Given the description of an element on the screen output the (x, y) to click on. 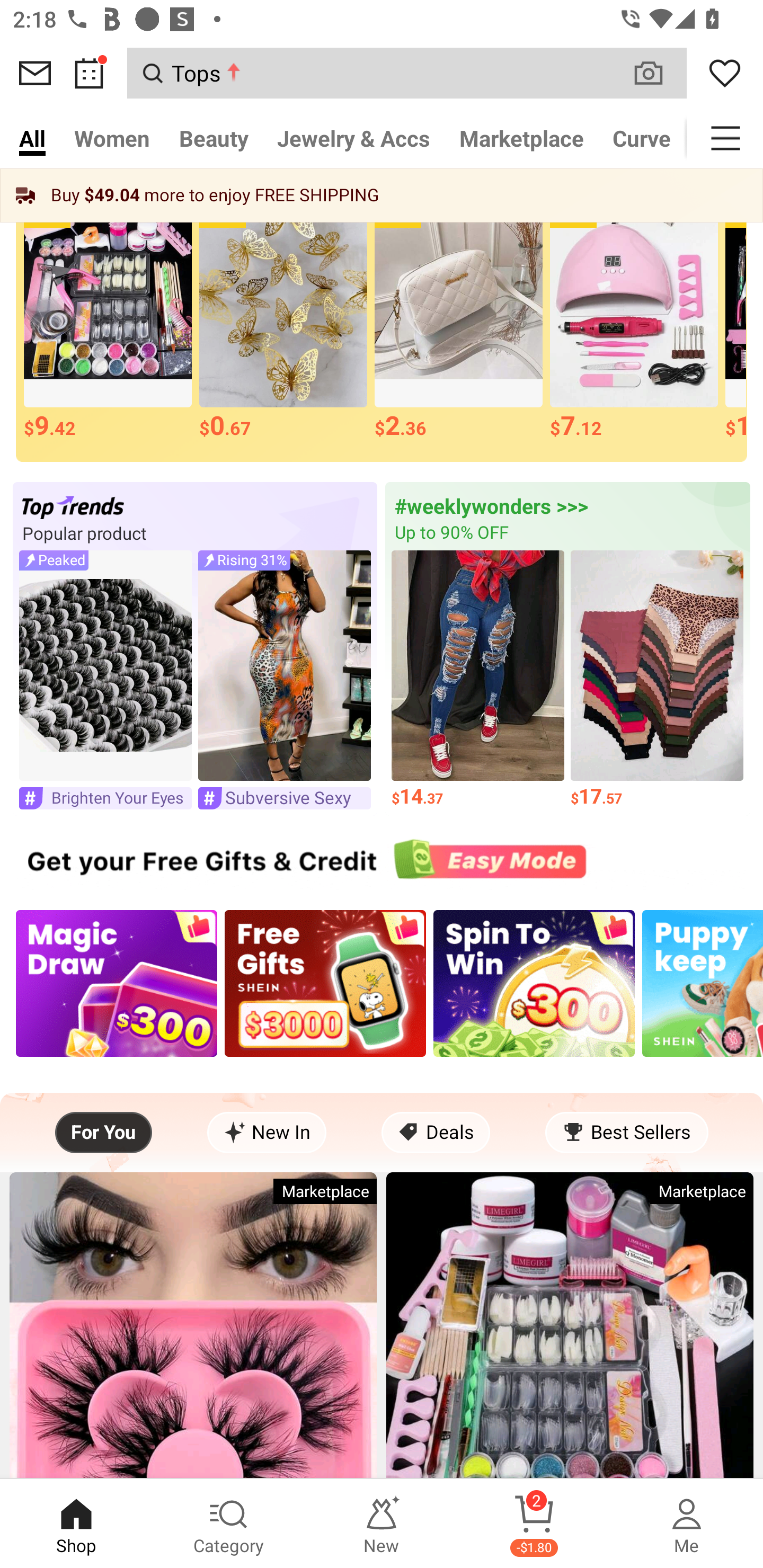
Wishlist (724, 72)
VISUAL SEARCH (657, 72)
All (31, 137)
Women (111, 137)
Beauty (213, 137)
Jewelry & Accs (353, 137)
Marketplace (521, 137)
Curve (641, 137)
Buy $49.04 more to enjoy FREE SHIPPING (381, 194)
Peaked Brighten Your Eyes (105, 679)
Rising 31% Subversive Sexy (284, 679)
$14.37 Price $14.37 (477, 679)
$17.57 Price $17.57 (656, 679)
New In (266, 1132)
Deals (435, 1132)
Best Sellers (626, 1132)
Category (228, 1523)
New (381, 1523)
Cart 2 -$1.80 (533, 1523)
Me (686, 1523)
